Given the description of an element on the screen output the (x, y) to click on. 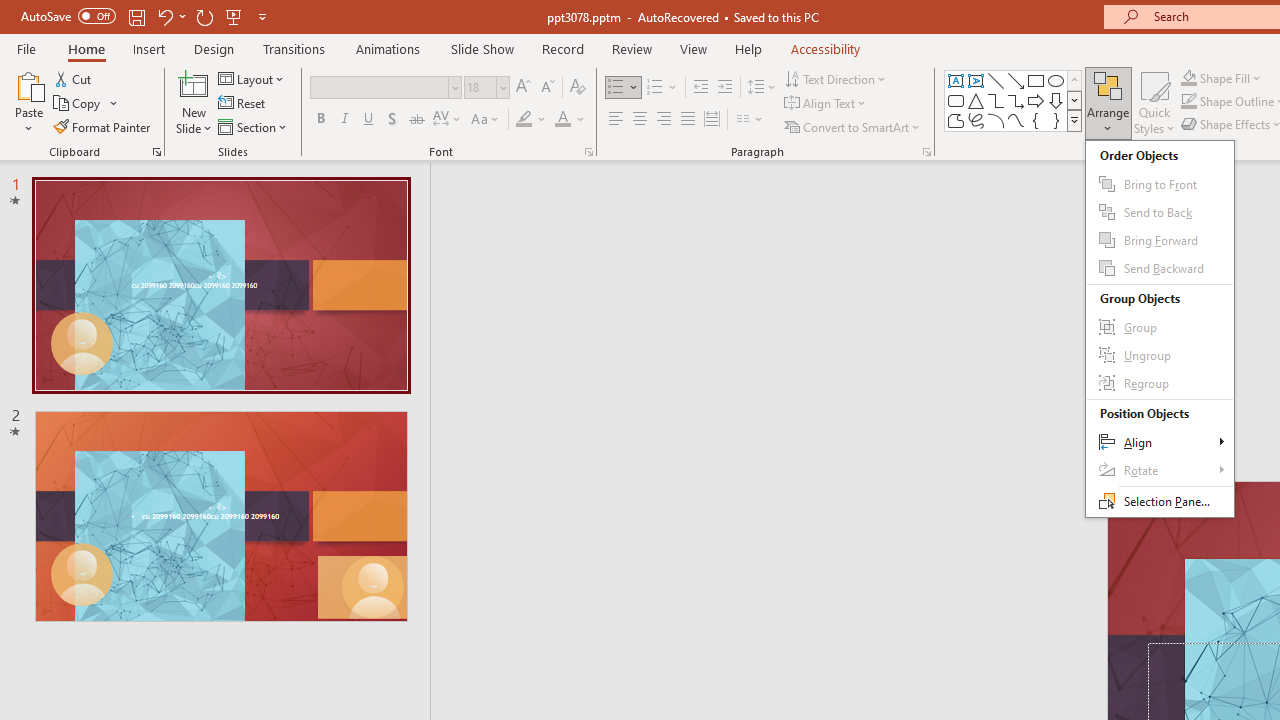
Convert to SmartArt (853, 126)
Vertical Text Box (975, 80)
Freeform: Shape (955, 120)
Distributed (712, 119)
Character Spacing (447, 119)
Format Painter (103, 126)
Line Spacing (762, 87)
Align Right (663, 119)
Section (254, 126)
Arrange (1160, 328)
Align Text (826, 103)
